Given the description of an element on the screen output the (x, y) to click on. 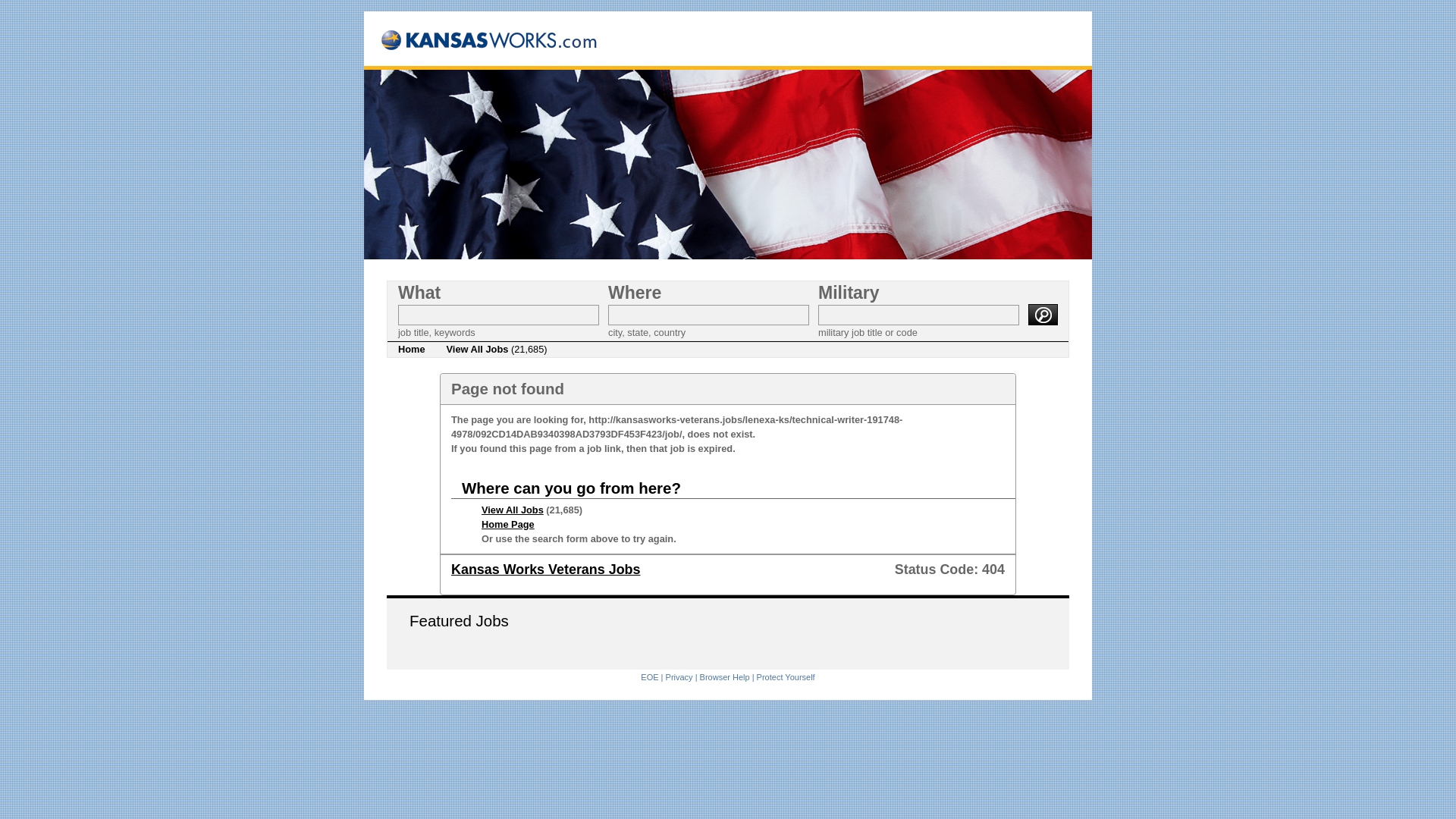
Privacy (679, 675)
Search MOC (918, 314)
search (1042, 314)
search (1042, 314)
View All Jobs (512, 509)
Home (411, 349)
Kansas Works Veterans Jobs (545, 569)
Search Phrase (497, 314)
Home Page (507, 523)
Submit Search (1042, 314)
Search Location (708, 314)
Protect Yourself (786, 675)
Browser Help (724, 675)
EOE (649, 675)
